Given the description of an element on the screen output the (x, y) to click on. 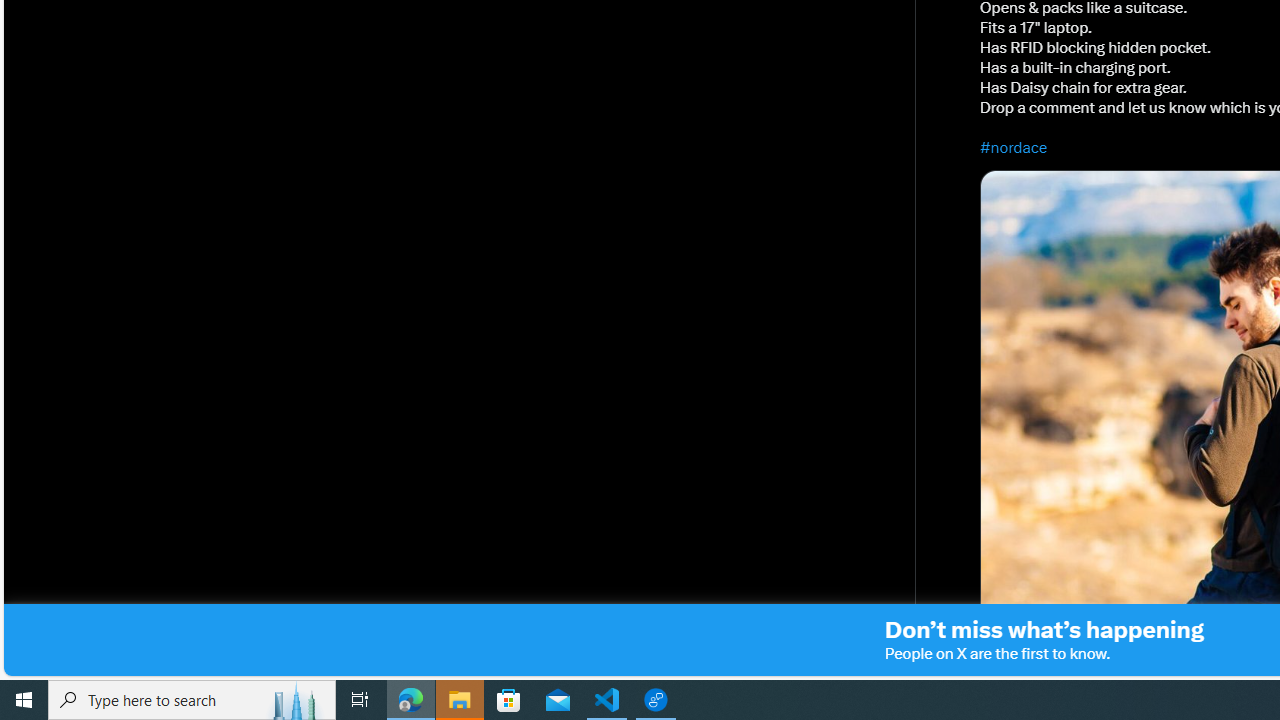
#nordace (1014, 147)
